Given the description of an element on the screen output the (x, y) to click on. 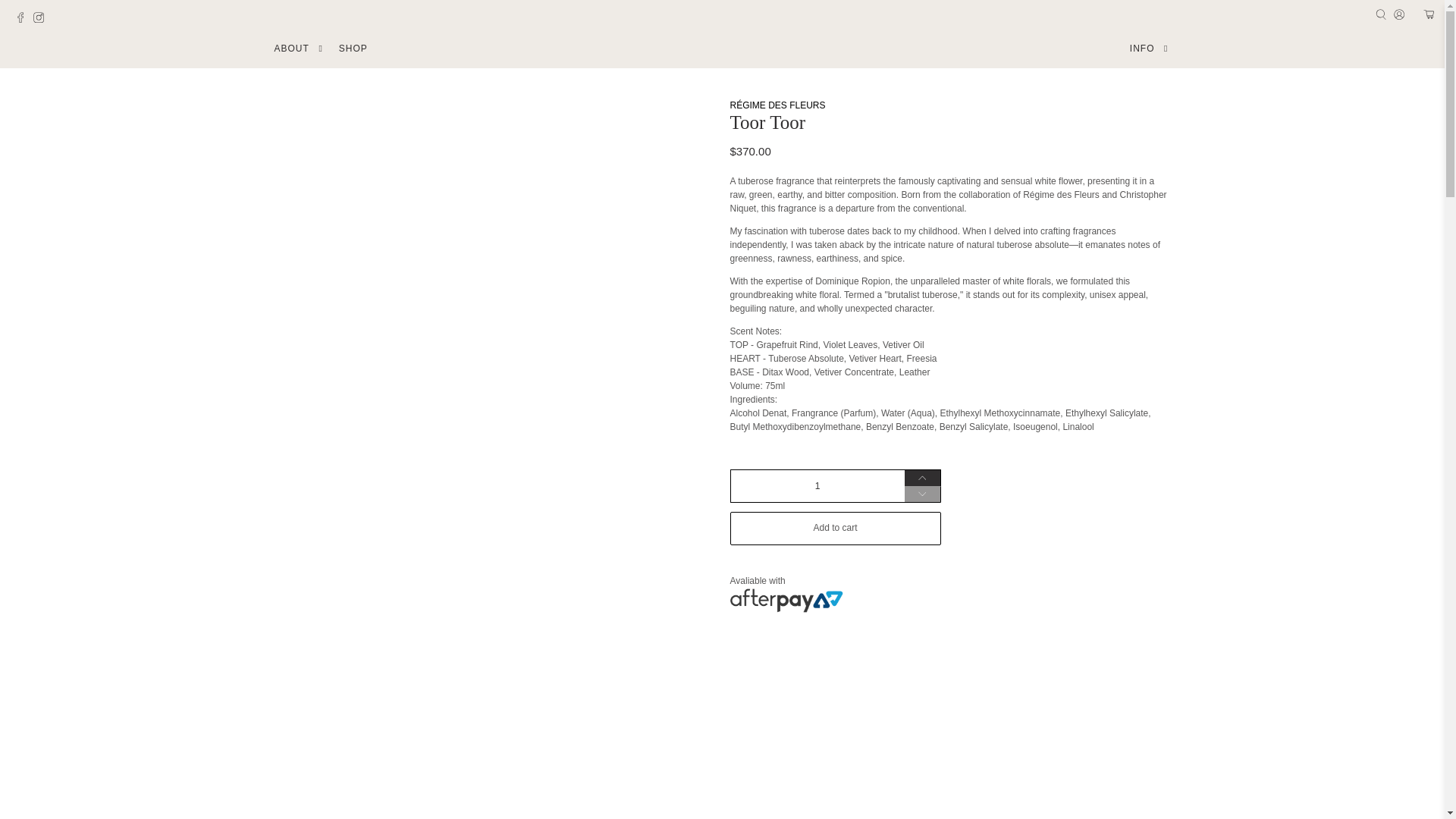
ABOUT (298, 48)
Klemenza on Instagram (41, 19)
1 (816, 485)
INFO (1149, 48)
Klemenza (722, 48)
Klemenza on Facebook (23, 19)
SHOP (352, 48)
